Given the description of an element on the screen output the (x, y) to click on. 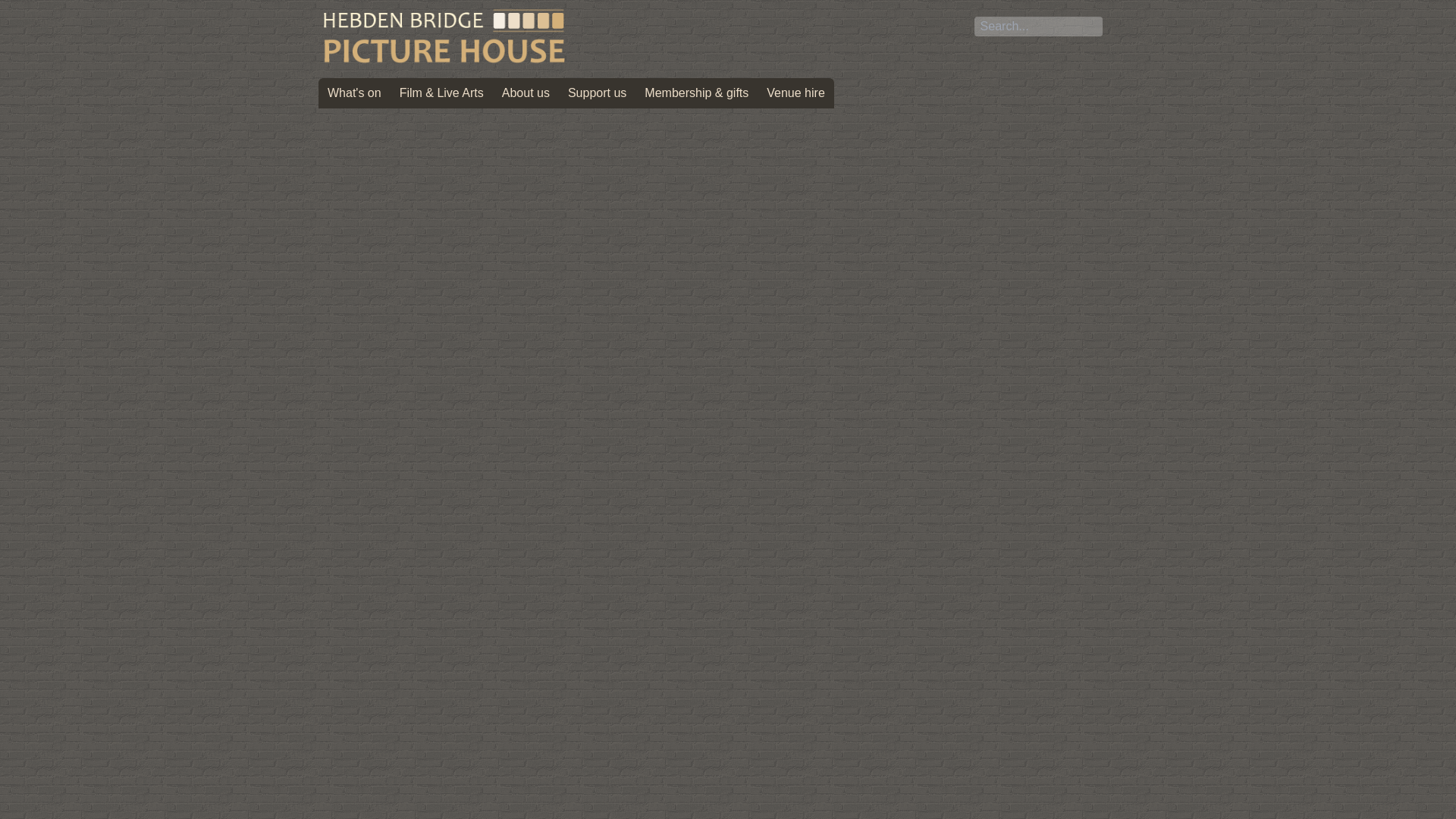
About us (526, 92)
Venue hire (796, 92)
Support us (596, 92)
What's on (354, 92)
